Given the description of an element on the screen output the (x, y) to click on. 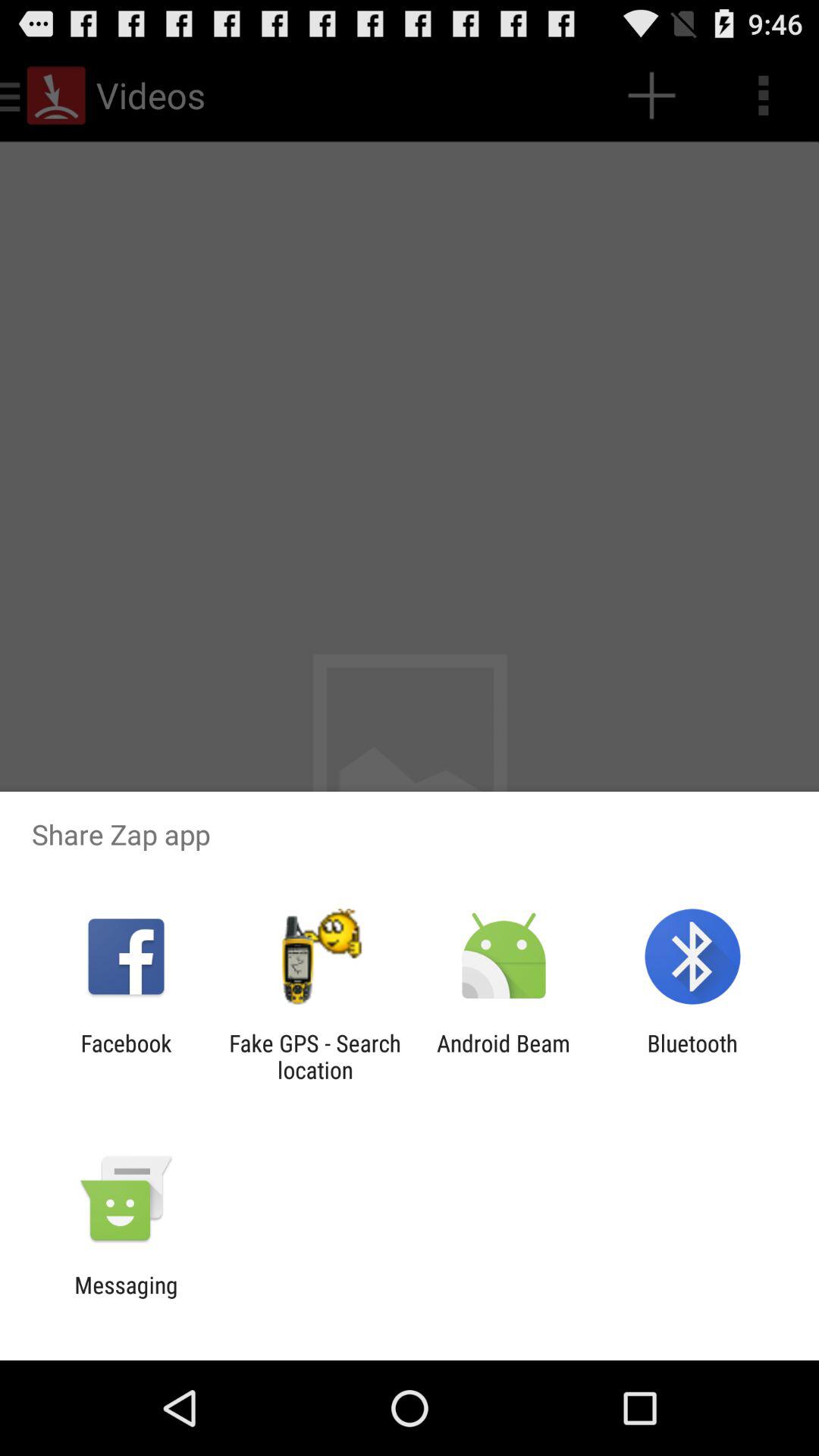
launch bluetooth item (692, 1056)
